Given the description of an element on the screen output the (x, y) to click on. 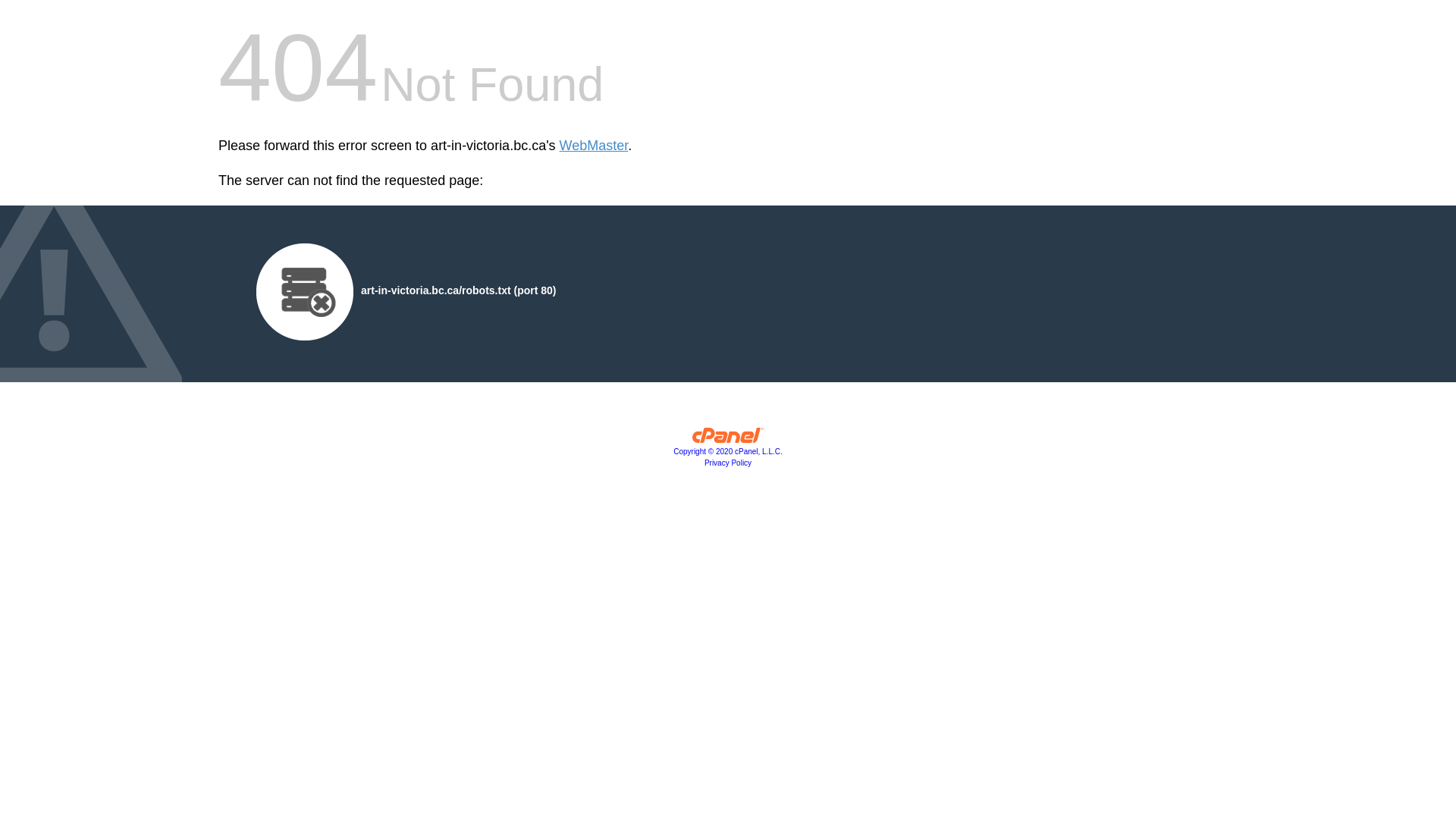
Privacy Policy Element type: text (727, 462)
cPanel, Inc. Element type: hover (728, 439)
WebMaster Element type: text (593, 145)
